Given the description of an element on the screen output the (x, y) to click on. 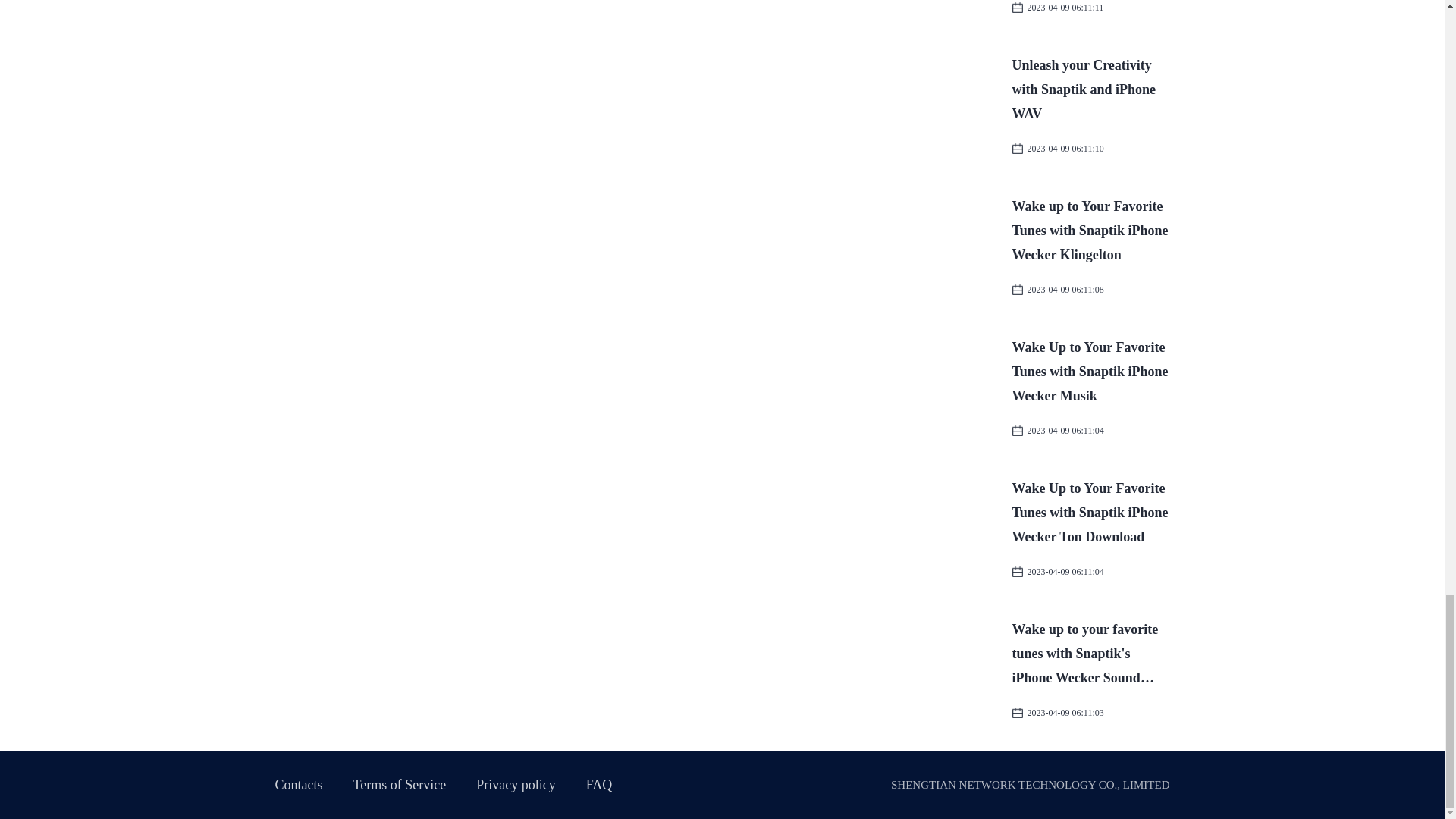
Privacy policy (515, 784)
Terms of Service (399, 784)
FAQ (599, 784)
Contacts (298, 784)
